Given the description of an element on the screen output the (x, y) to click on. 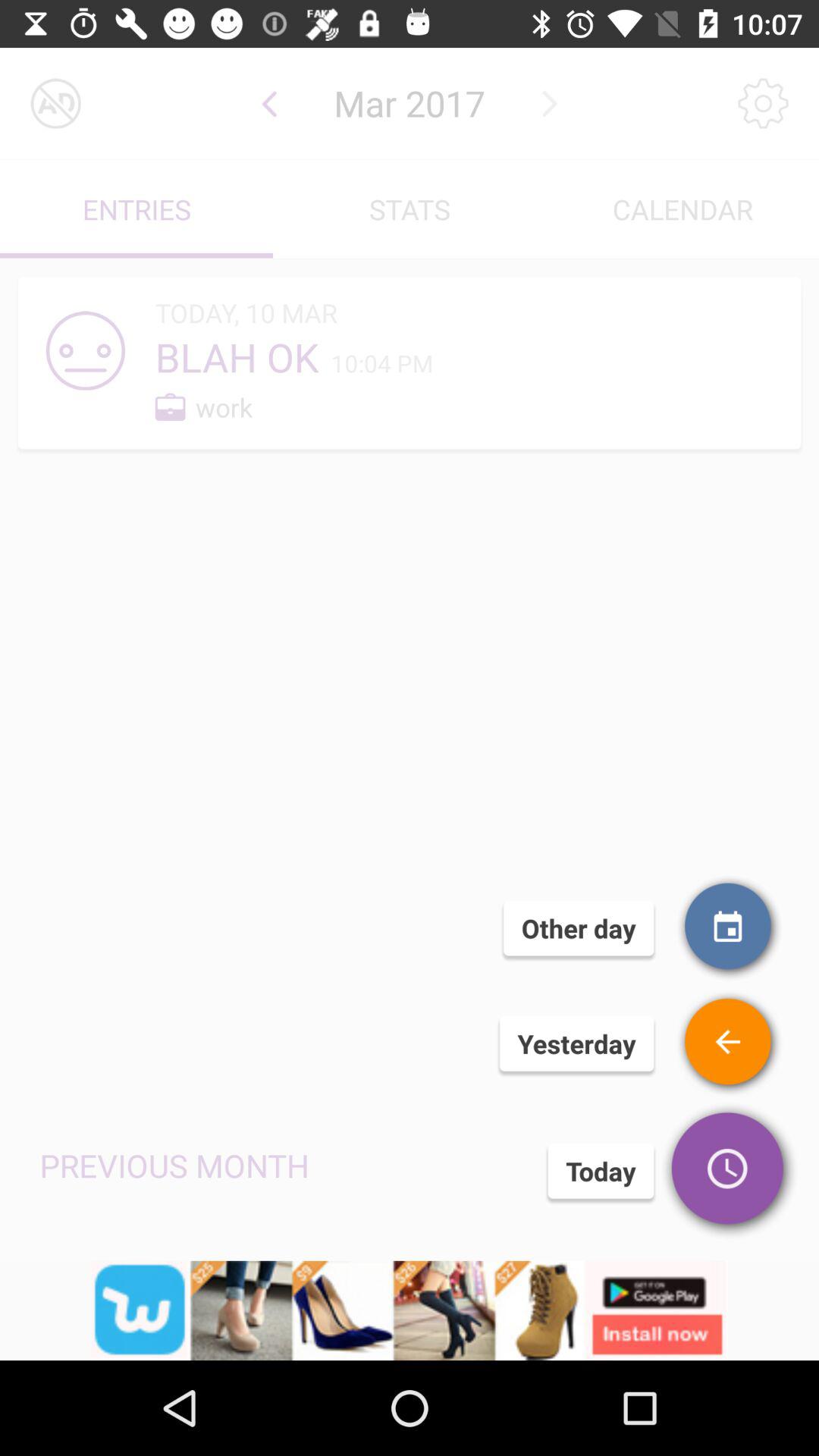
go back (269, 103)
